Given the description of an element on the screen output the (x, y) to click on. 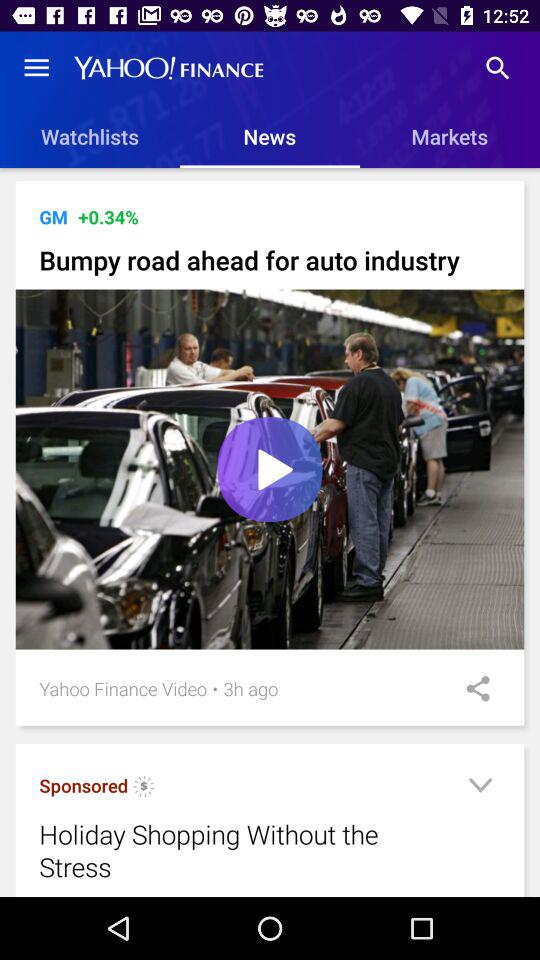
click for more information (143, 788)
